Given the description of an element on the screen output the (x, y) to click on. 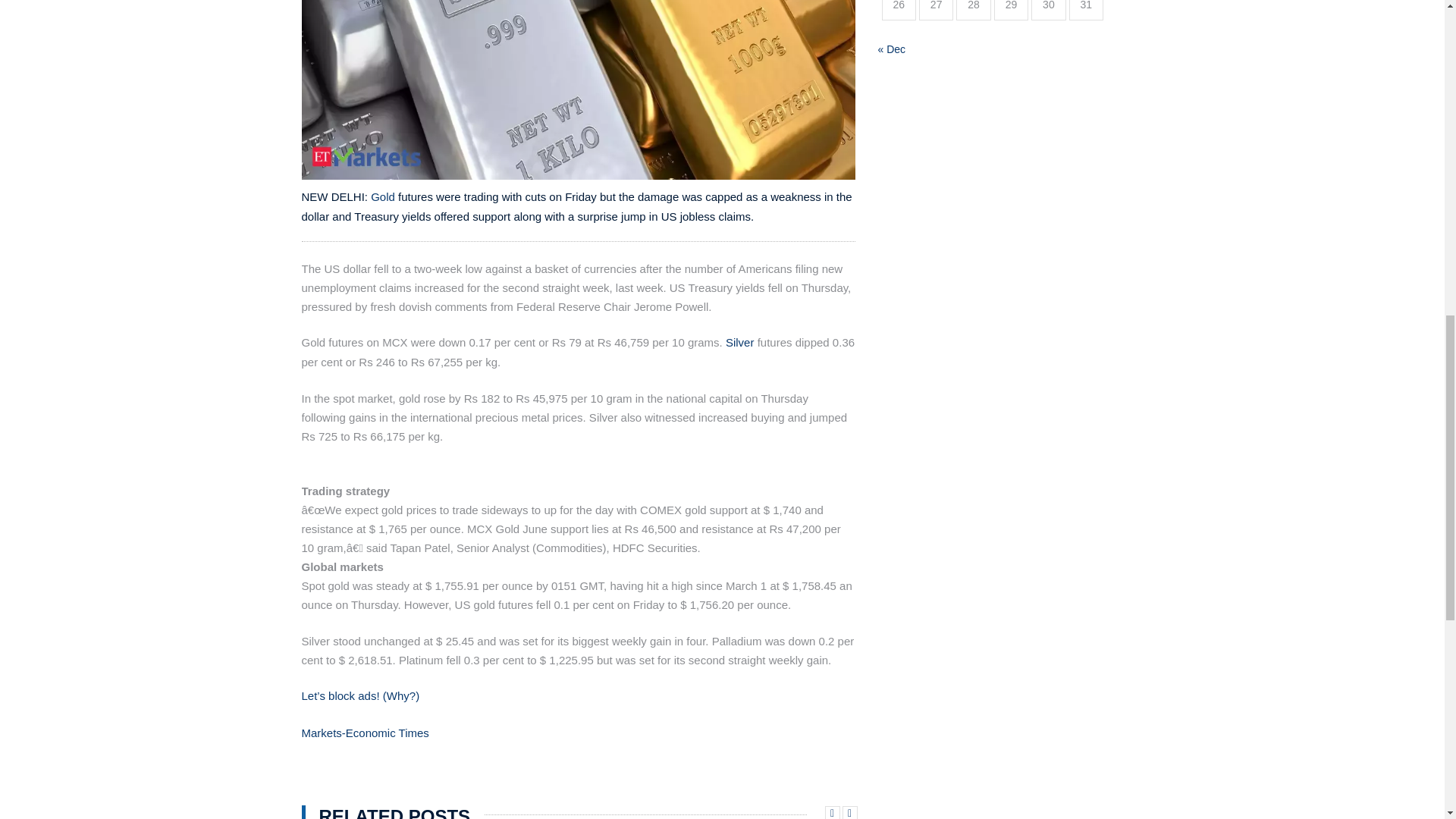
Silver (739, 341)
Markets-Economic Times (365, 732)
Gold (382, 196)
